Given the description of an element on the screen output the (x, y) to click on. 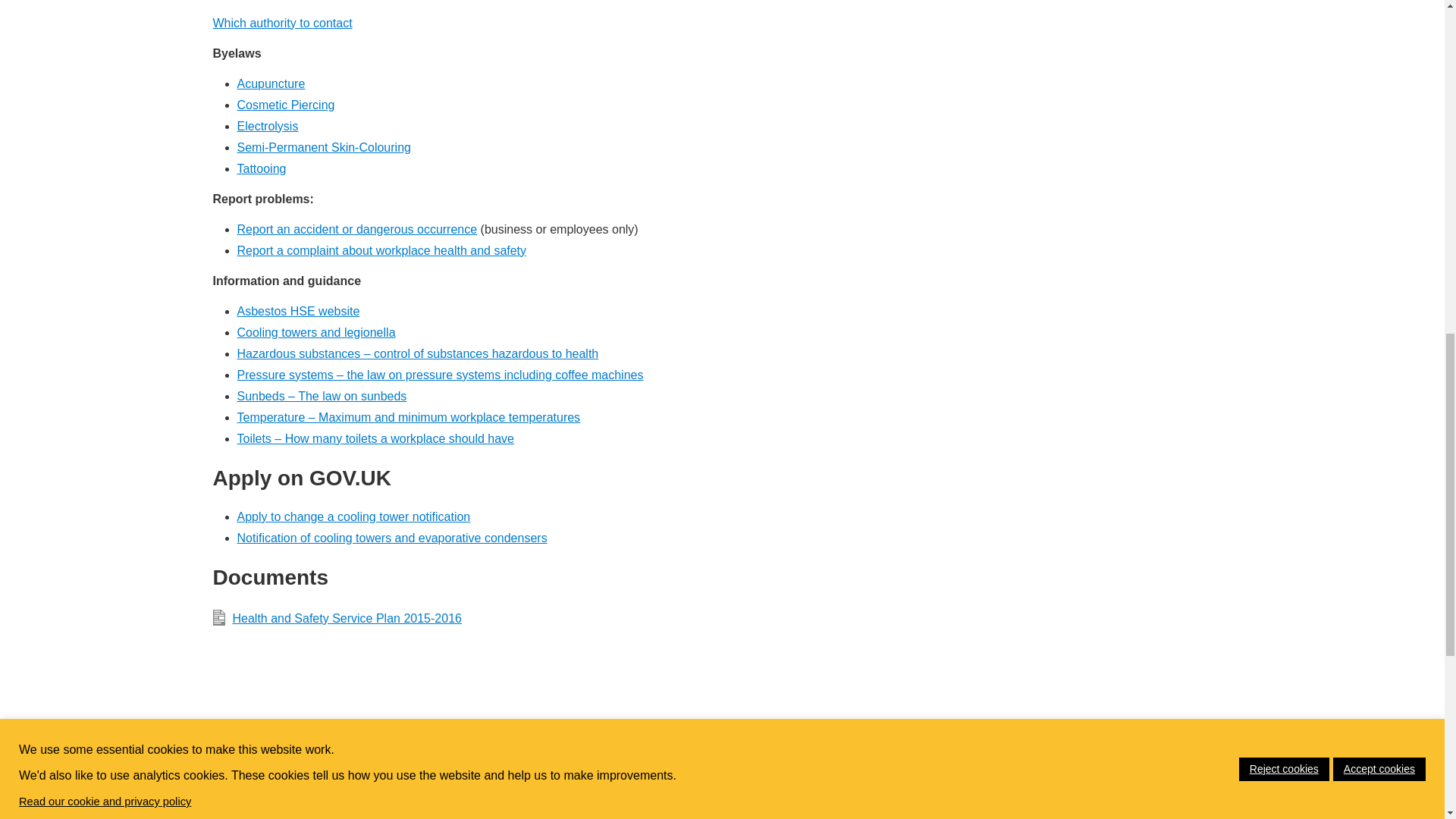
Tattooing (260, 168)
Cooling towers and legionella (314, 332)
Acupuncture (269, 83)
Notification of cooling towers and evaporative condensers (391, 537)
Semi-Permanent Skin-Colouring (322, 146)
Electrolysis (266, 125)
Cosmetic Piercing (284, 104)
Asbestos HSE website (297, 310)
Report an accident or dangerous occurrence (356, 228)
Apply to change a cooling tower notification (352, 516)
